Given the description of an element on the screen output the (x, y) to click on. 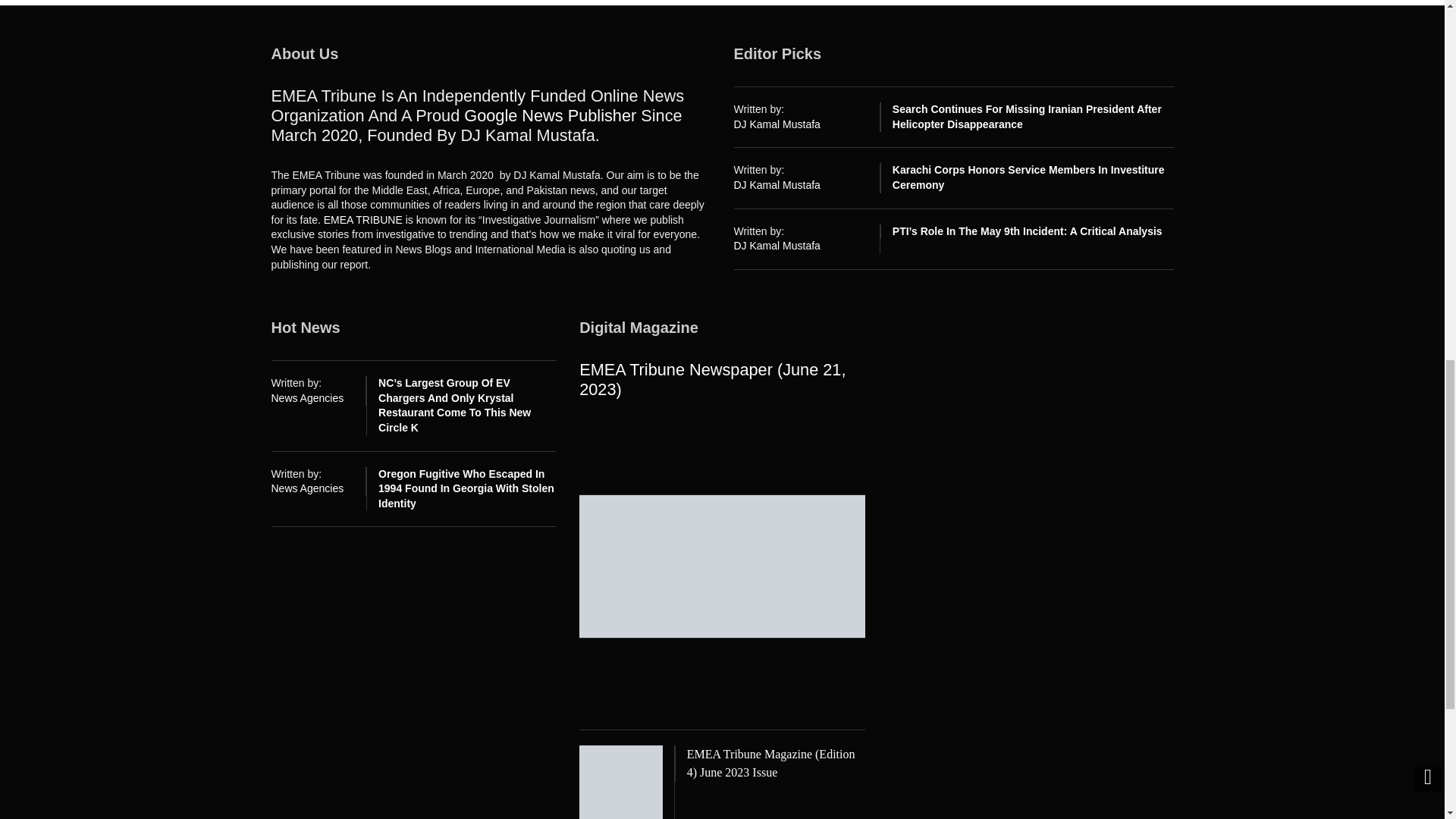
Karachi Corps Honors Service Members in Investiture Ceremony (1028, 176)
